Given the description of an element on the screen output the (x, y) to click on. 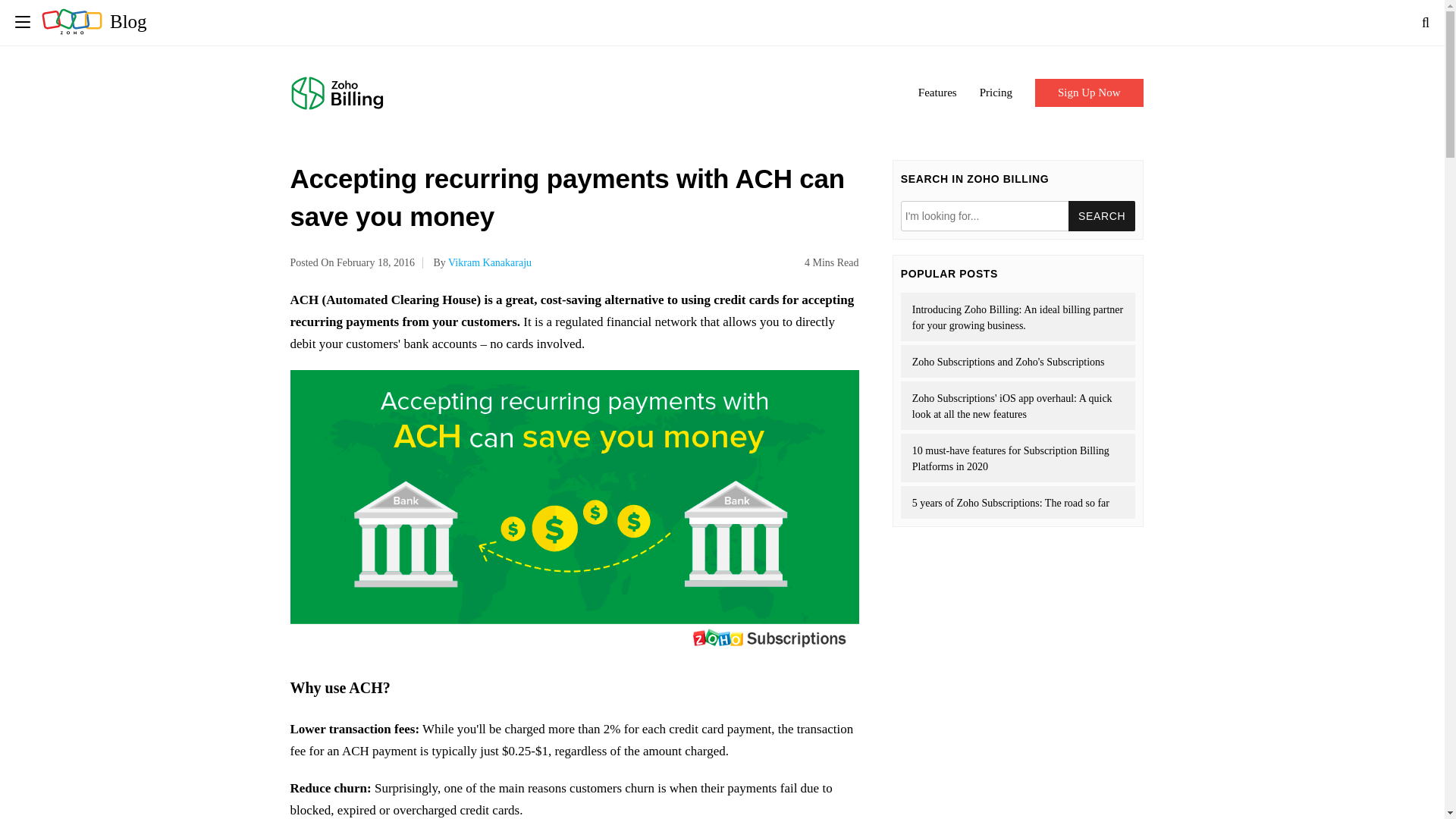
Pricing (995, 92)
5 years of Zoho Subscriptions: The road so far (1018, 502)
Zoho Subscriptions and Zoho's Subscriptions (1018, 360)
Search (1101, 215)
Vikram Kanakaraju (489, 262)
Blog (94, 21)
Sign Up Now (1088, 92)
Search (1101, 215)
Features (937, 92)
